Given the description of an element on the screen output the (x, y) to click on. 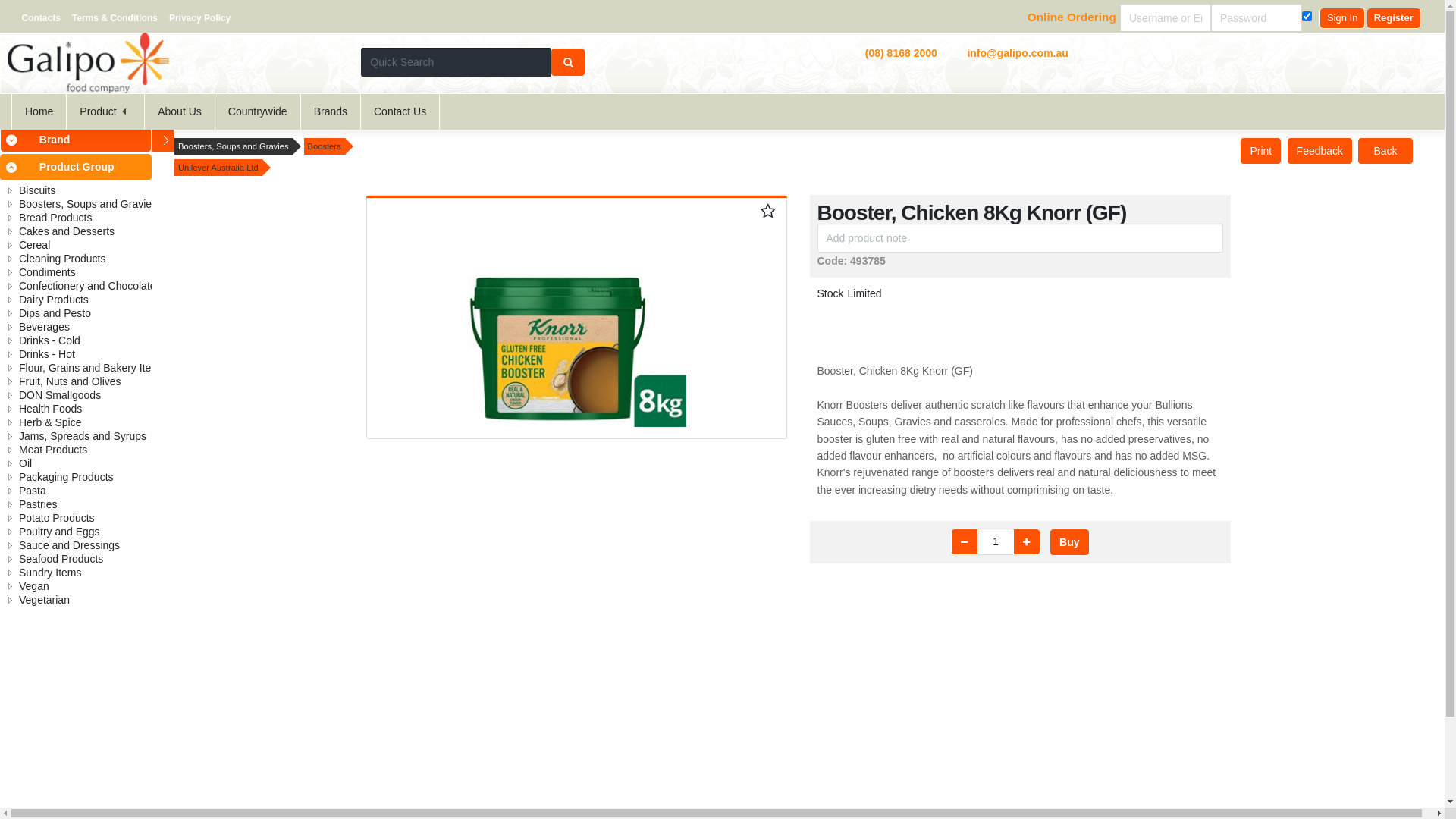
Condiments Element type: text (47, 272)
Contacts Element type: text (40, 17)
Sauce and Dressings Element type: text (69, 545)
Sundry Items Element type: text (49, 572)
Print Element type: text (1260, 150)
Dairy Products Element type: text (53, 299)
Buy Element type: text (1068, 541)
DON Smallgoods Element type: text (59, 395)
Search Element type: hover (567, 61)
Cleaning Products Element type: text (61, 258)
Cereal Element type: text (34, 244)
Unilever Australia Ltd Element type: text (218, 167)
info@galipo.com.au Element type: text (1016, 53)
Sign In Element type: text (1342, 17)
Pastries Element type: text (38, 504)
Dips and Pesto Element type: text (54, 313)
Cakes and Desserts Element type: text (66, 231)
Pasta Element type: text (32, 490)
Boosters Element type: text (324, 146)
Poultry and Eggs Element type: text (59, 531)
Vegan Element type: text (33, 586)
Bread Products Element type: text (55, 217)
Up Element type: hover (1026, 541)
Meat Products Element type: text (52, 449)
(08) 8168 2000 Element type: text (901, 53)
Herb & Spice Element type: text (49, 422)
Seafood Products Element type: text (60, 558)
Boosters, Soups and Gravies Element type: text (87, 203)
Click to add item to your favourites Element type: hover (765, 209)
Countrywide Element type: text (257, 111)
Biscuits Element type: text (36, 190)
Back Element type: text (1384, 150)
Boosters, Soups and Gravies Element type: text (233, 146)
Brand Element type: text (84, 139)
Drinks - Cold Element type: text (49, 340)
Beverages Element type: text (44, 326)
Register Element type: text (1393, 17)
Down Element type: hover (964, 541)
Fruit, Nuts and Olives Element type: text (69, 381)
Brands Element type: text (330, 111)
Vegetarian Element type: text (44, 599)
Home Element type: text (38, 111)
Potato Products Element type: text (56, 517)
Product Group Element type: text (84, 166)
Jams, Spreads and Syrups Element type: text (82, 435)
Click to hide/show Categories Element type: hover (157, 141)
Packaging Products Element type: text (66, 476)
Oil Element type: text (25, 463)
Flour, Grains and Bakery Items Element type: text (91, 367)
Health Foods Element type: text (50, 408)
About Us Element type: text (179, 111)
Contact Us Element type: text (399, 111)
Drinks - Hot Element type: text (46, 354)
Product Element type: text (105, 111)
remember me Element type: hover (1306, 16)
Confectionery and Chocolate Element type: text (87, 285)
